Given the description of an element on the screen output the (x, y) to click on. 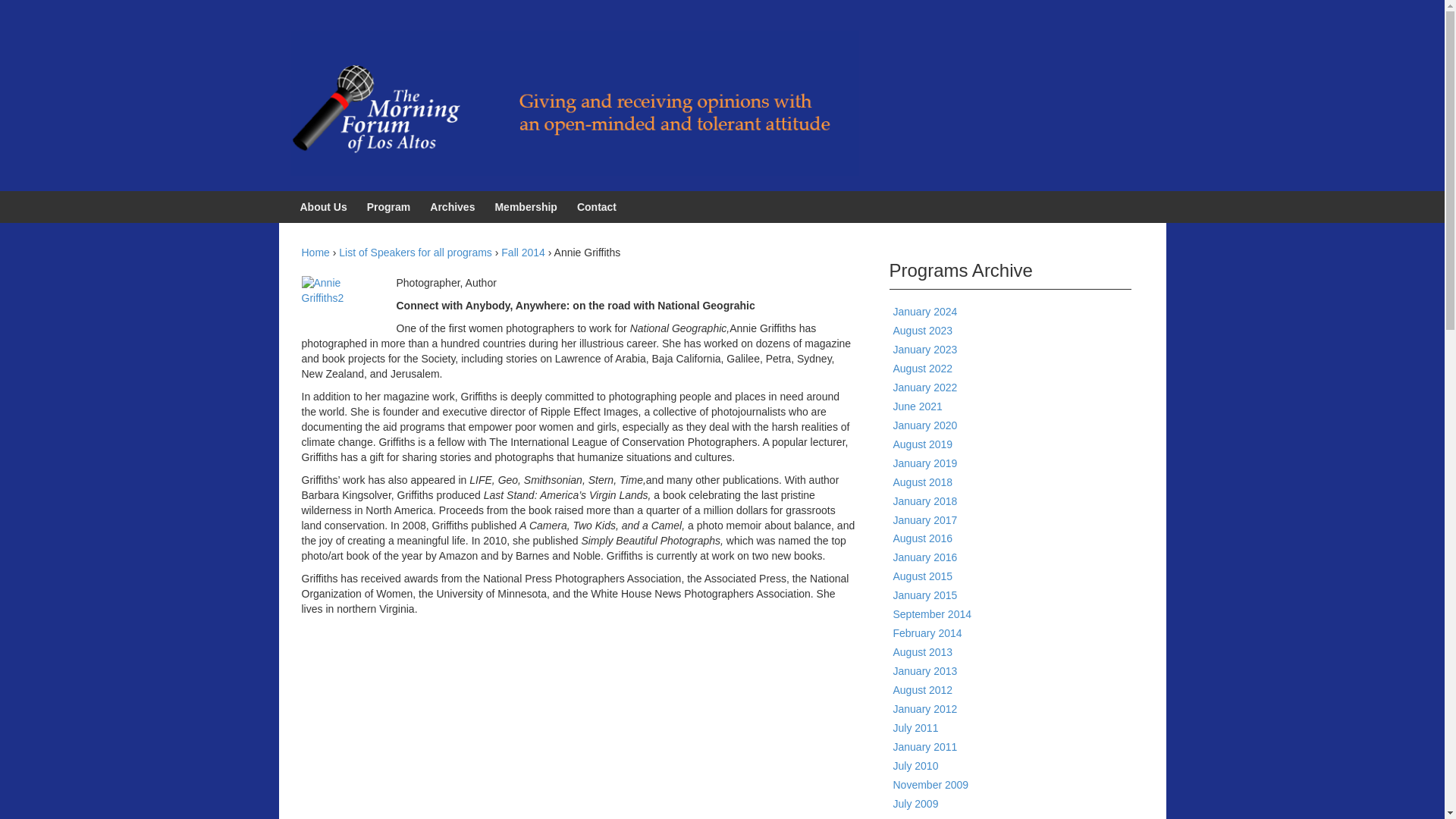
January 2018 (925, 500)
Skip to main menu (43, 22)
July 2009 (916, 803)
August 2023 (923, 330)
June 2021 (917, 406)
List of Speakers for all programs (415, 252)
August 2016 (923, 538)
August 2019 (923, 444)
August 2018 (923, 481)
Contact (595, 206)
